Given the description of an element on the screen output the (x, y) to click on. 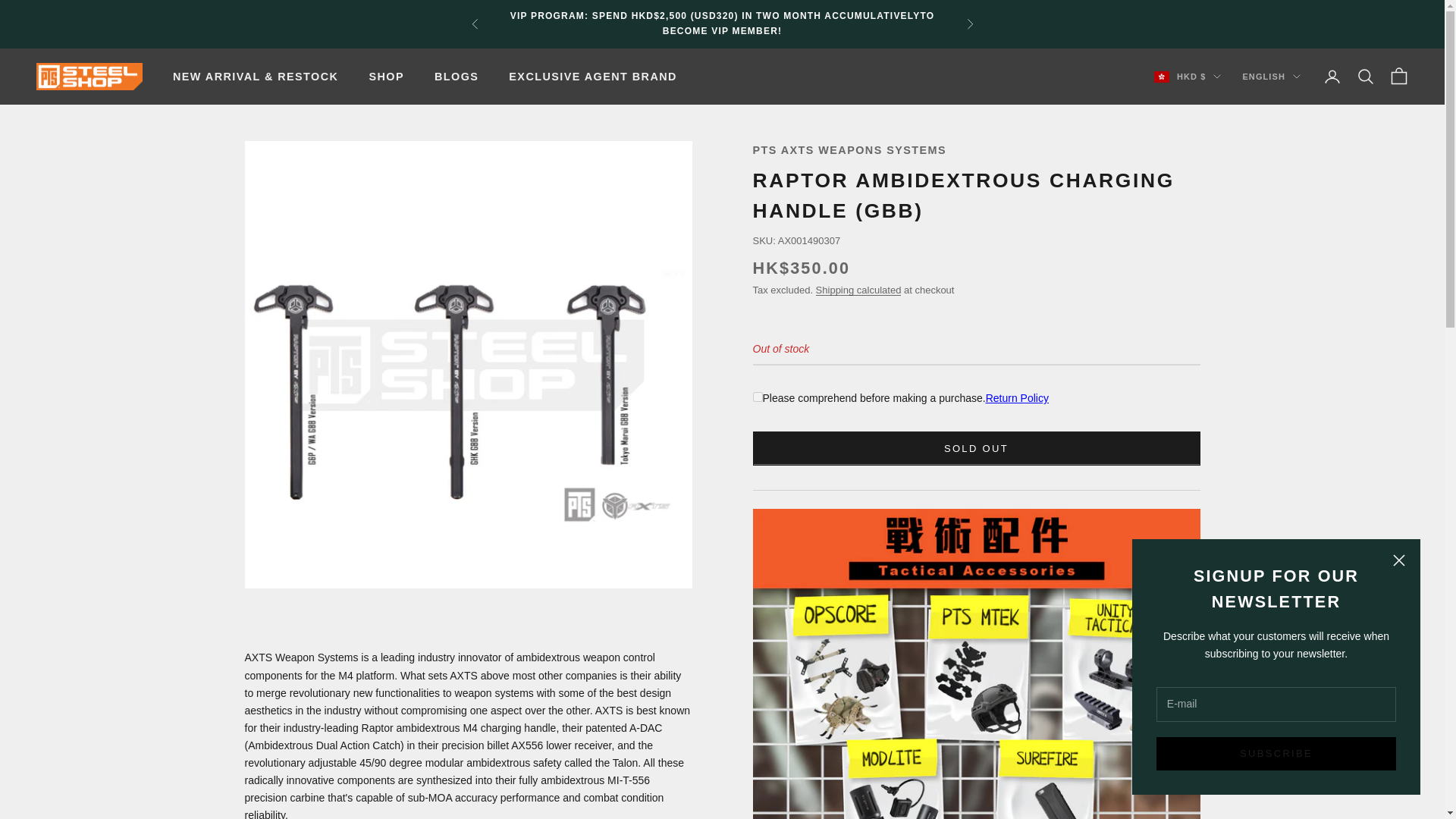
Newsletter popup (1276, 666)
on (756, 397)
PTS Steel Shop (89, 76)
